Given the description of an element on the screen output the (x, y) to click on. 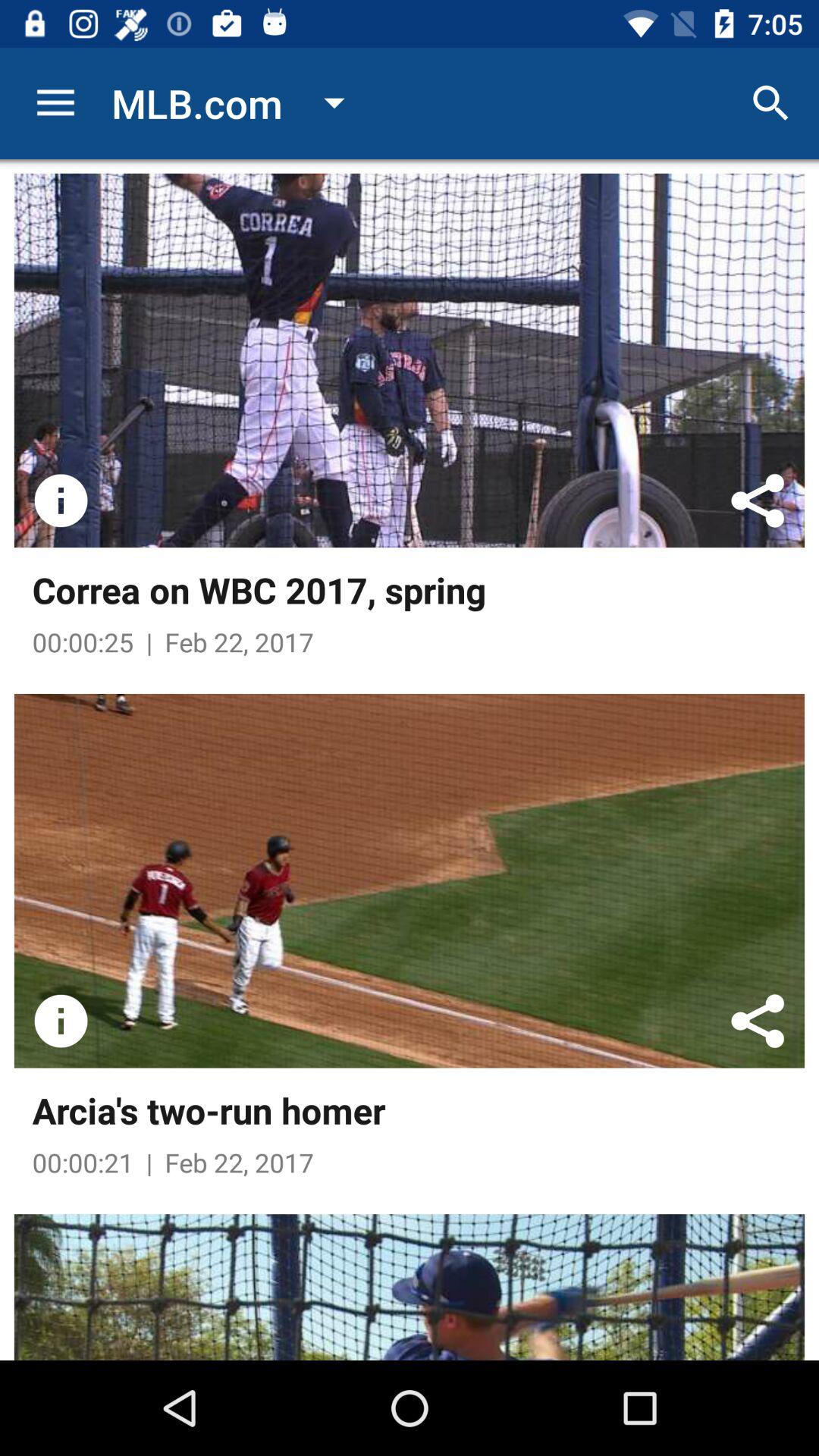
share the video (757, 1021)
